Given the description of an element on the screen output the (x, y) to click on. 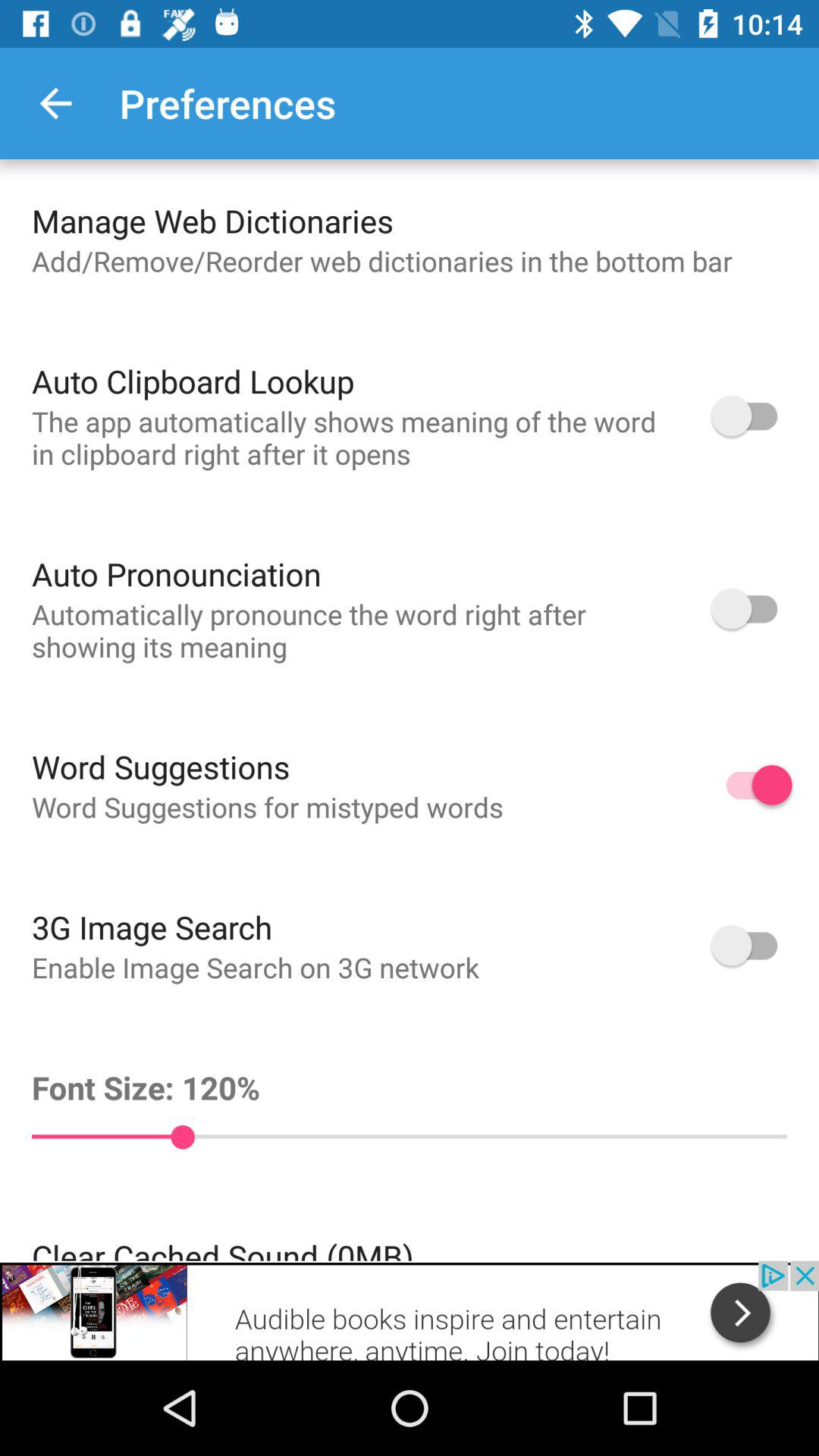
toggle 3g image search option (751, 945)
